Given the description of an element on the screen output the (x, y) to click on. 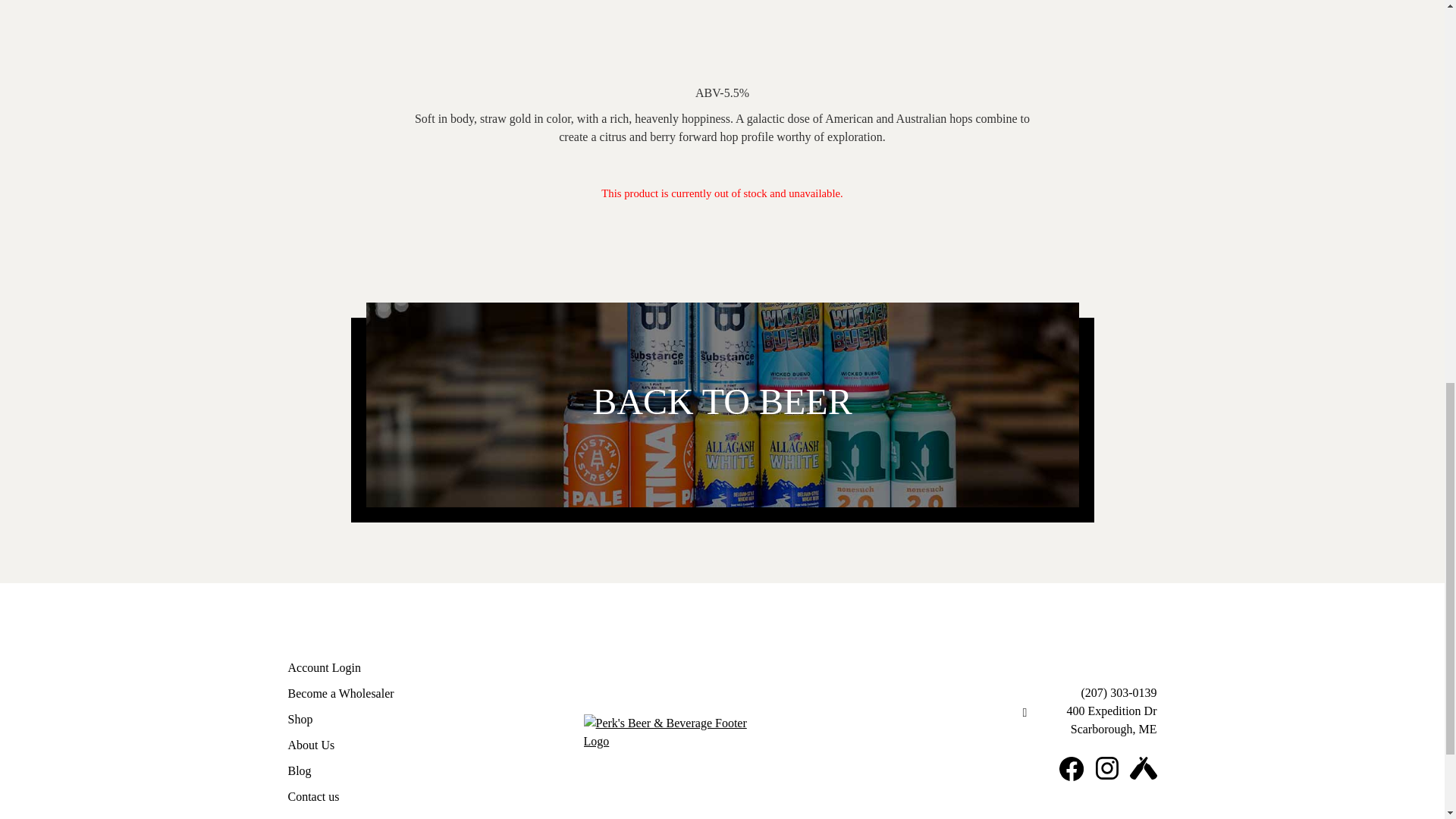
Blog (299, 770)
Become a Wholesaler (341, 693)
Account Login (324, 667)
Shop (300, 718)
About Us (311, 744)
Contact us (313, 796)
